Given the description of an element on the screen output the (x, y) to click on. 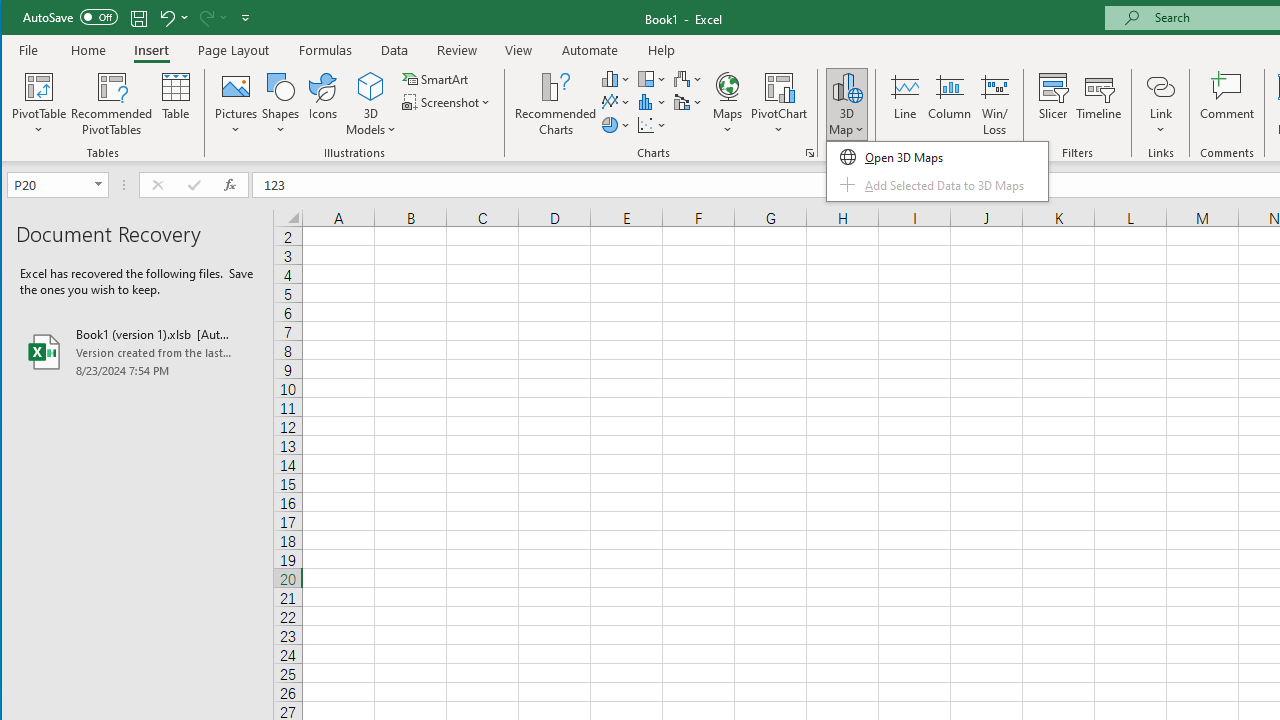
Shapes (280, 104)
Insert Line or Area Chart (616, 101)
&3D Map (937, 171)
Icons (323, 104)
Win/Loss (995, 104)
Insert Hierarchy Chart (652, 78)
Slicer... (1052, 104)
